Given the description of an element on the screen output the (x, y) to click on. 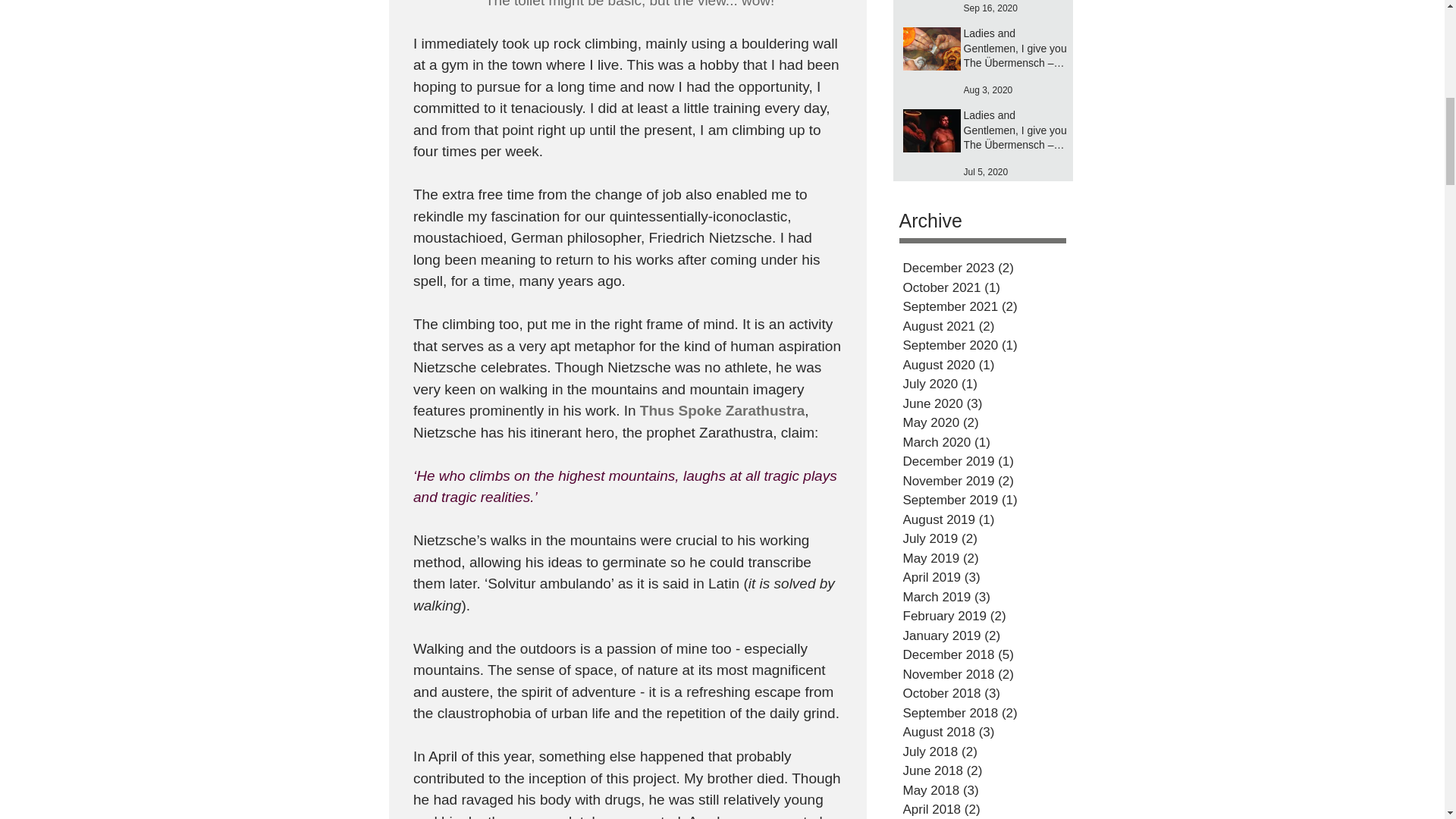
Thus Spoke Zarathustra (722, 410)
Aug 3, 2020 (986, 90)
Sep 16, 2020 (989, 8)
Jul 5, 2020 (984, 172)
